Given the description of an element on the screen output the (x, y) to click on. 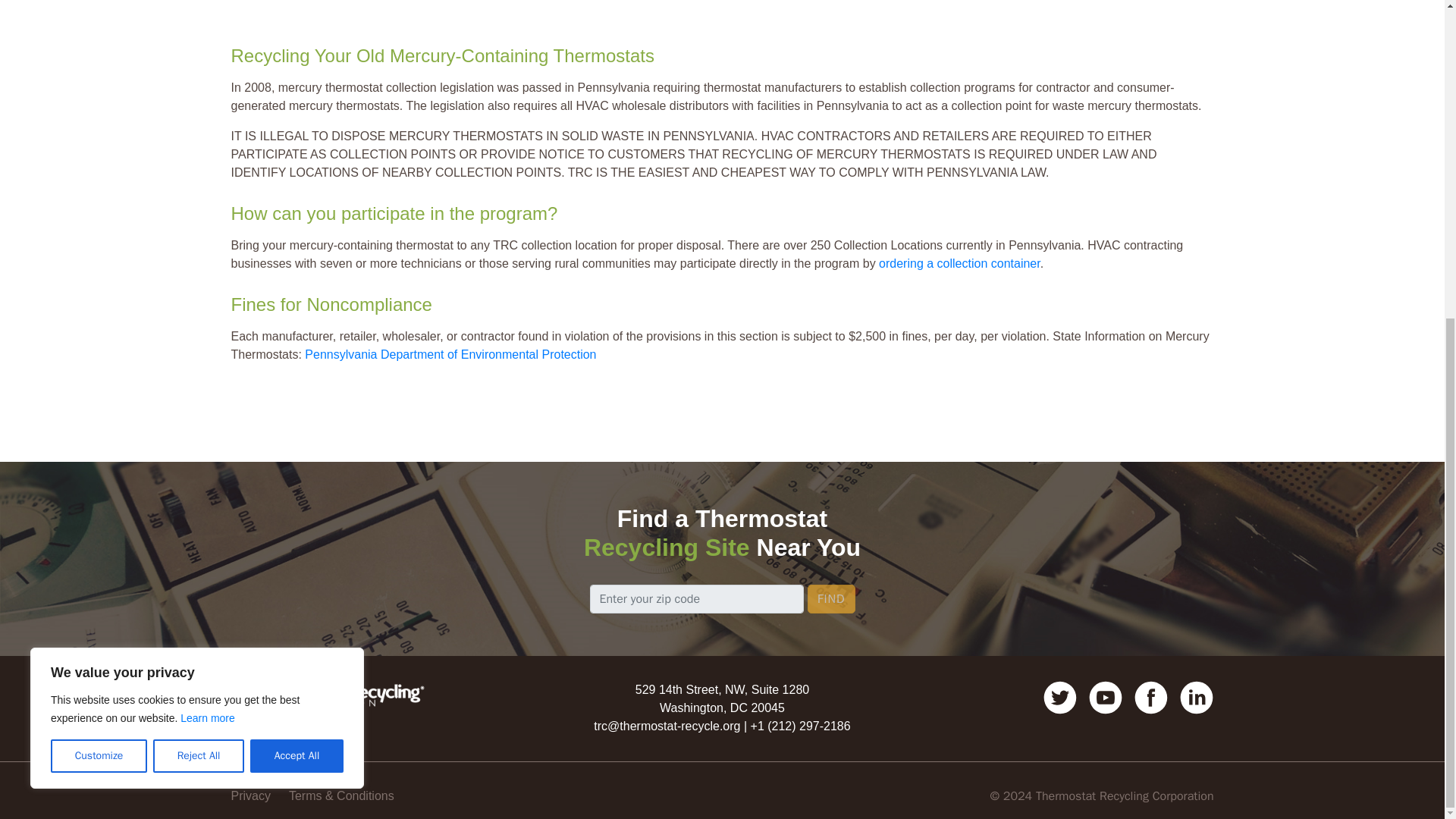
Accept All (296, 241)
Reject All (198, 241)
Customize (98, 241)
Learn more (207, 203)
